Given the description of an element on the screen output the (x, y) to click on. 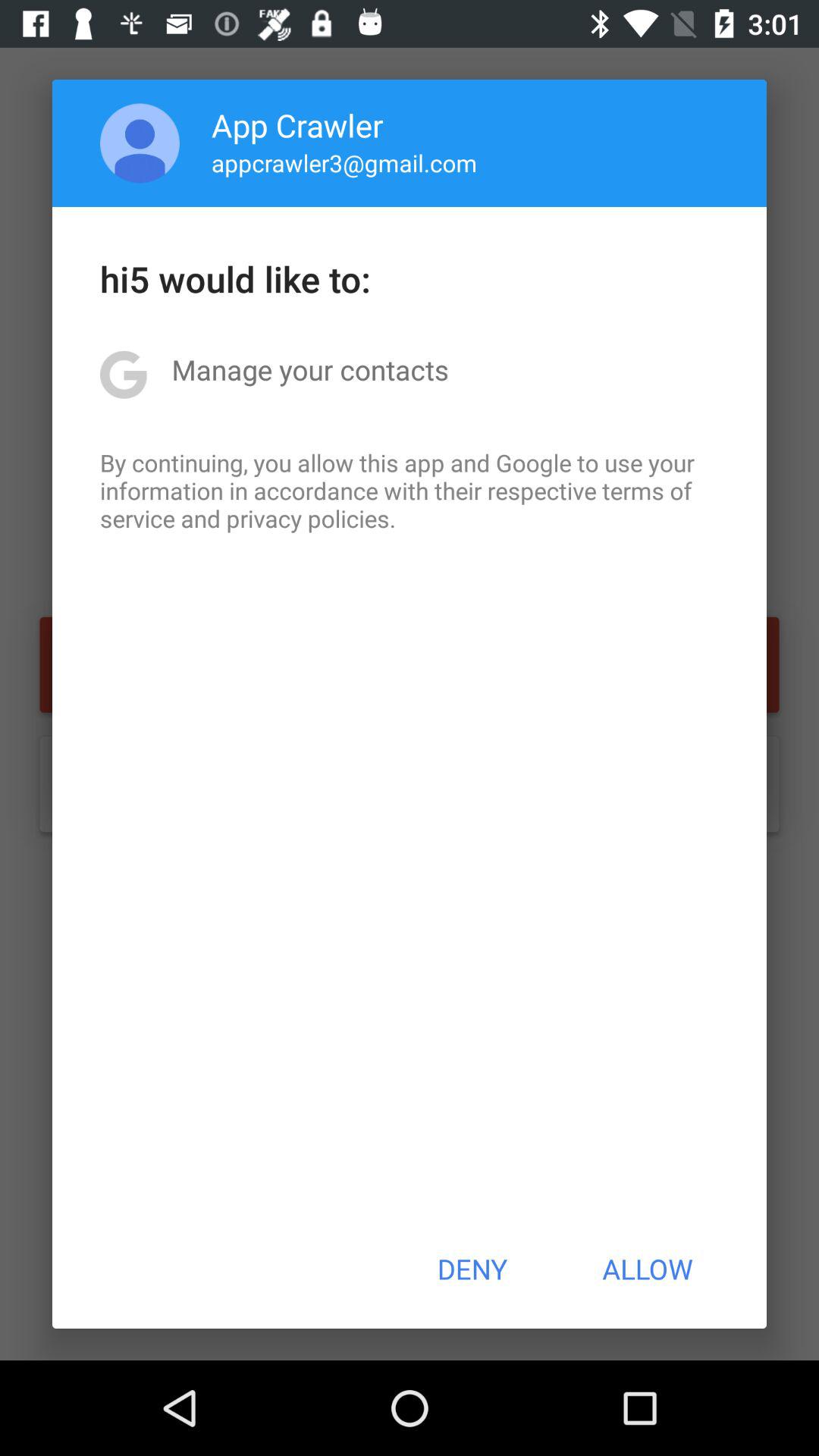
choose the deny item (471, 1268)
